Given the description of an element on the screen output the (x, y) to click on. 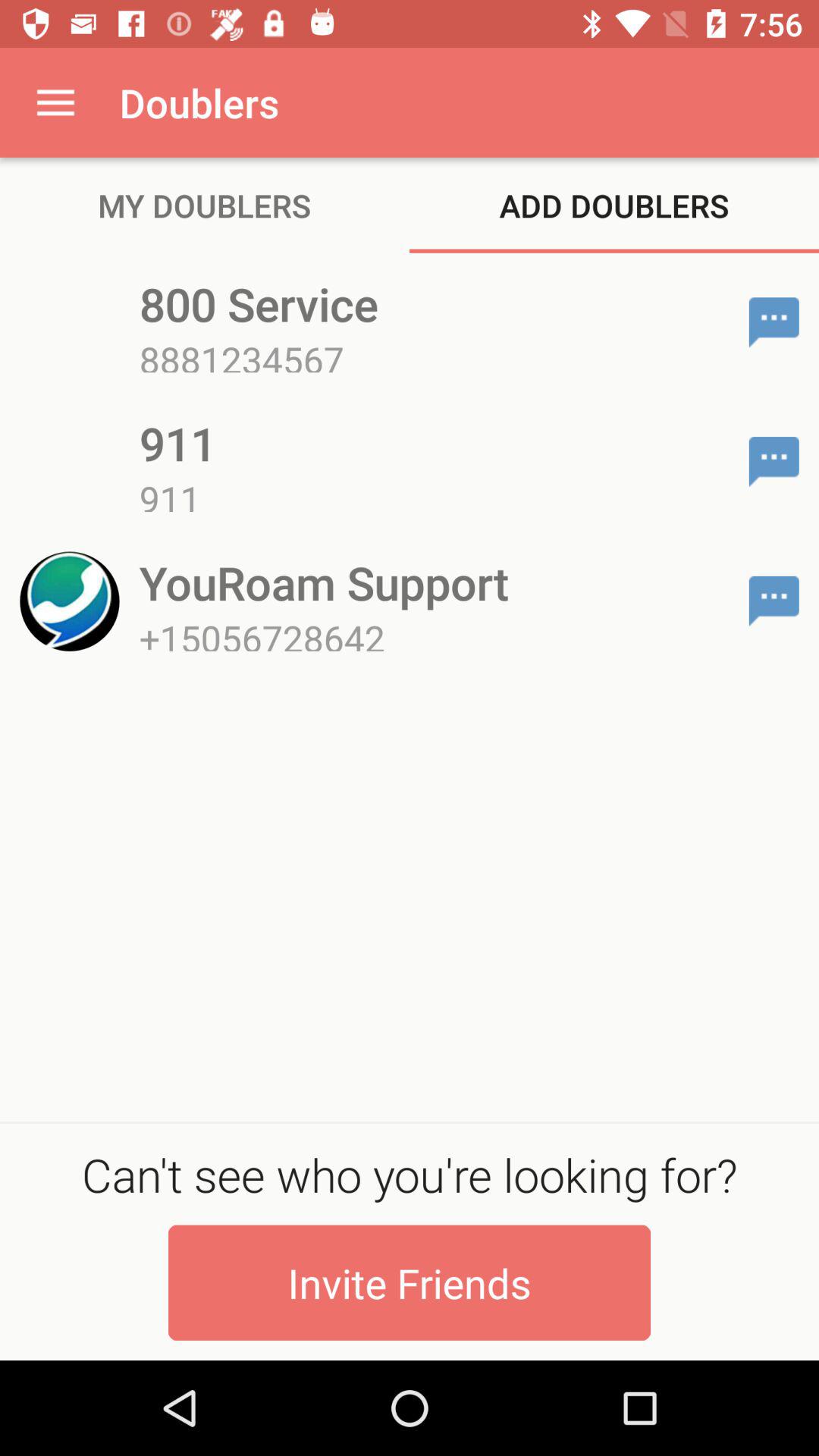
turn on the icon to the left of doublers app (55, 102)
